Given the description of an element on the screen output the (x, y) to click on. 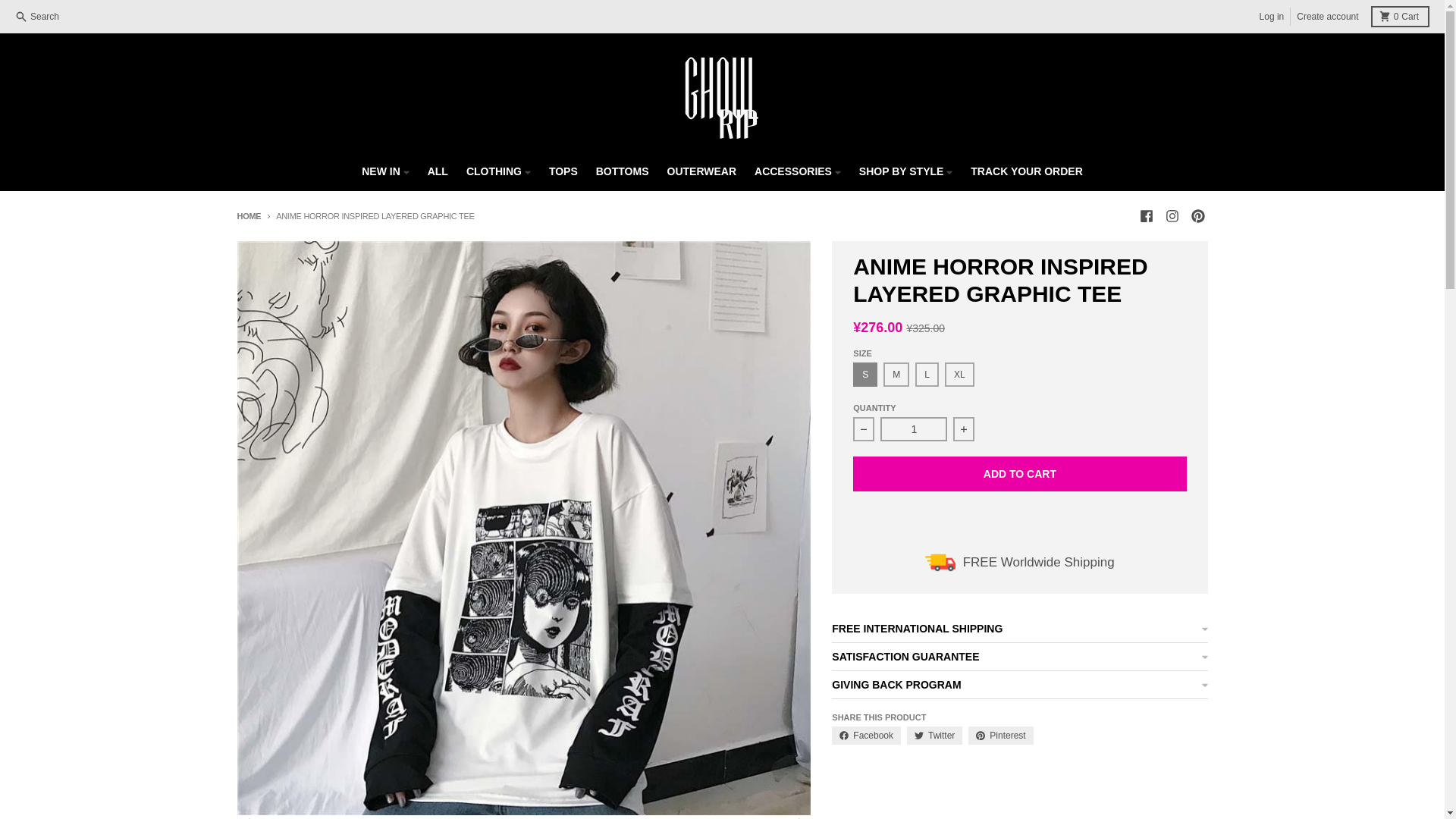
Search (38, 16)
Back to the homepage (247, 215)
Facebook - Ghoul RIP (1145, 216)
Pinterest - Ghoul RIP (1197, 216)
Log in (1400, 16)
XL (1271, 16)
1 (1327, 16)
Instagram - Ghoul RIP (913, 428)
